Given the description of an element on the screen output the (x, y) to click on. 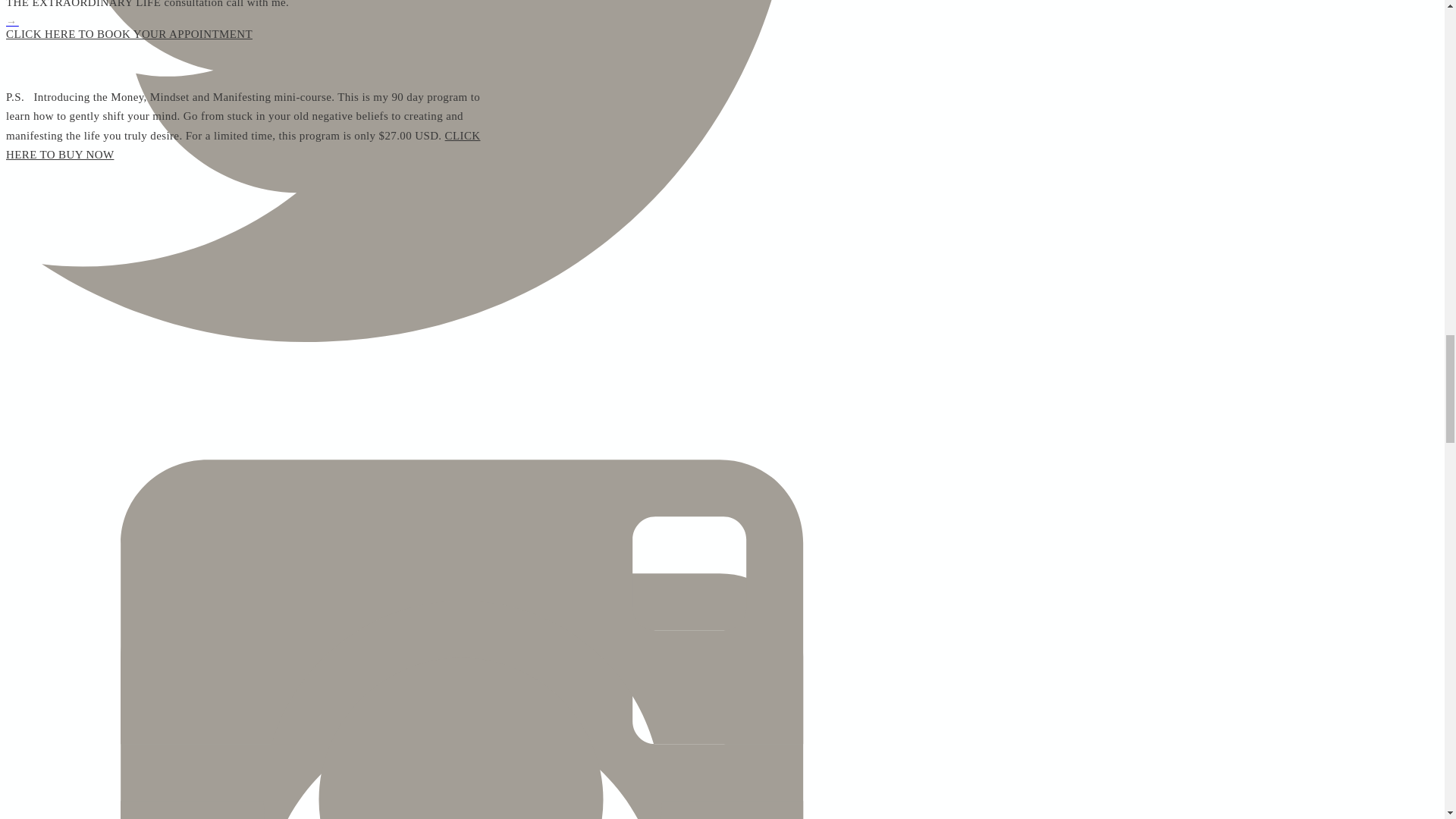
CLICK HERE TO BUY NOW (242, 145)
CLICK HERE TO BOOK YOUR APPOINTMENT (128, 33)
